Given the description of an element on the screen output the (x, y) to click on. 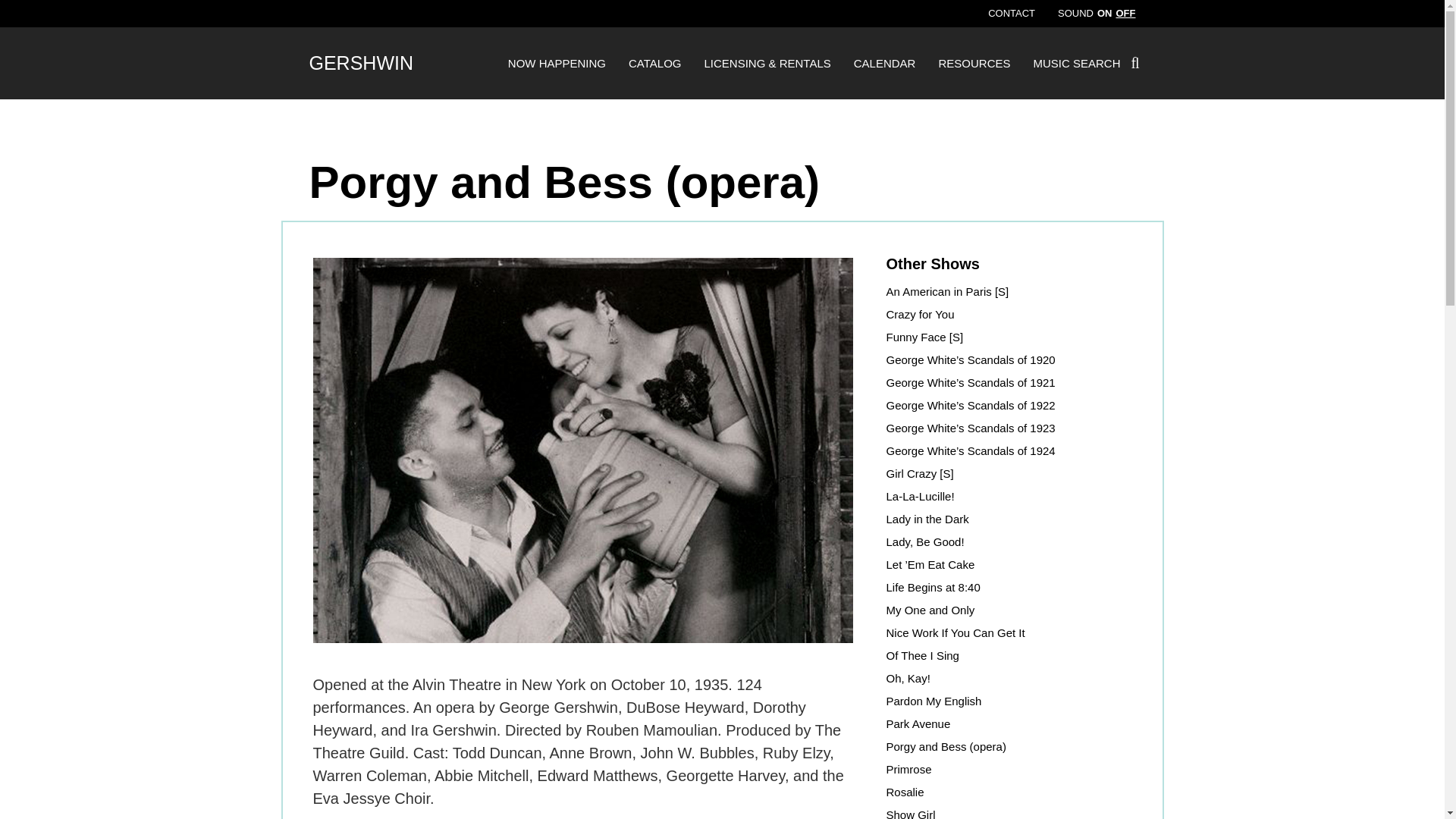
Gershwin (360, 63)
NOW HAPPENING (556, 63)
RESOURCES (973, 63)
MUSIC SEARCH (1075, 63)
ON (1104, 13)
OFF (1125, 13)
GERSHWIN (360, 63)
CONTACT (1011, 13)
